Given the description of an element on the screen output the (x, y) to click on. 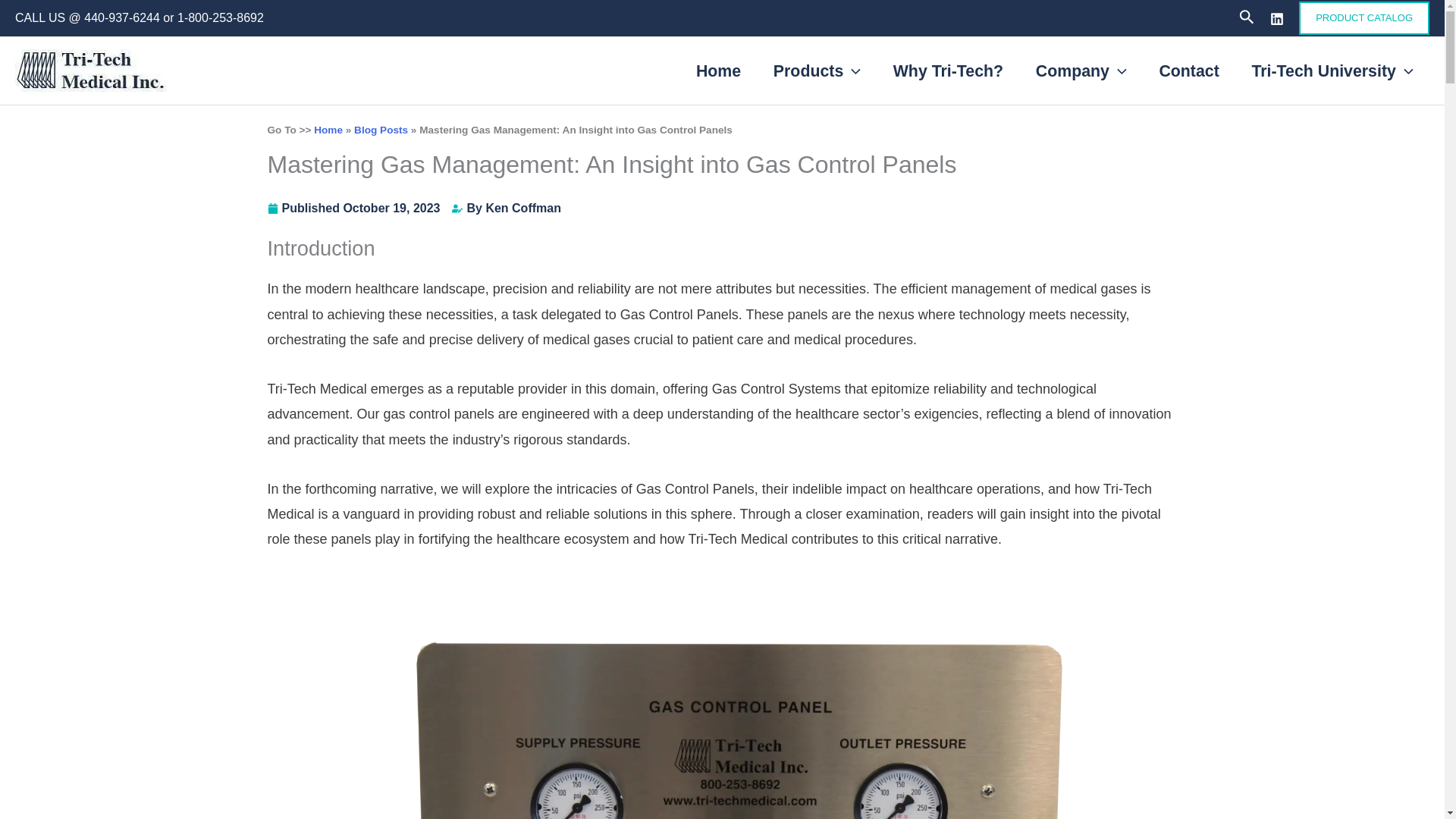
Contact (1188, 70)
Why Tri-Tech? (947, 70)
Company (1080, 70)
PRODUCT CATALOG (1363, 18)
Home (718, 70)
Tri-Tech University (1331, 70)
Products (817, 70)
